Given the description of an element on the screen output the (x, y) to click on. 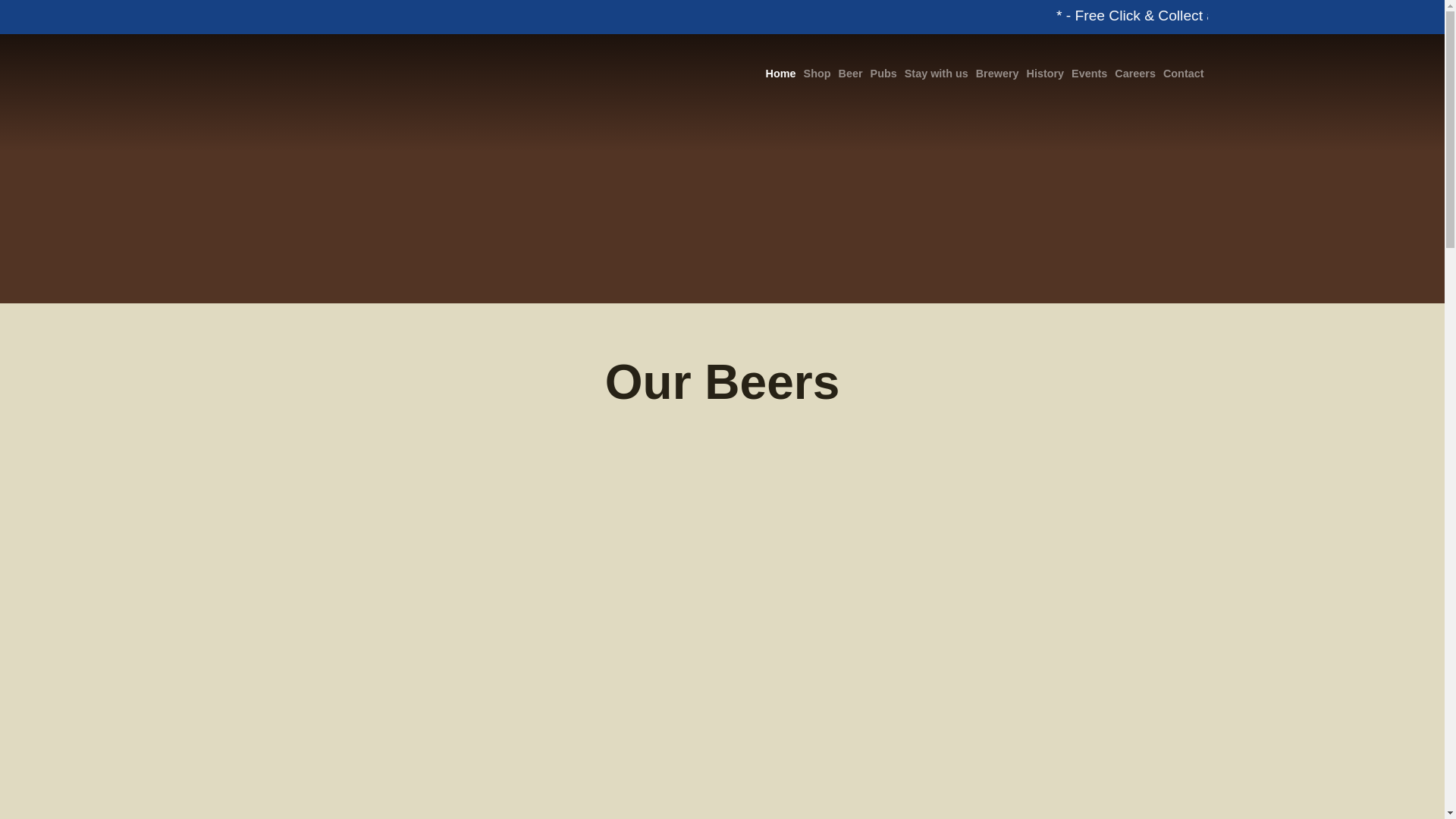
beer (850, 72)
contact (1183, 72)
brewery (997, 72)
Careers (1134, 72)
Contact (1183, 72)
history (1045, 72)
Stay with us (936, 72)
Stay with us (936, 72)
Brewery (997, 72)
events (1088, 72)
Pubs (883, 72)
Shop (816, 72)
Black Country Ales (283, 72)
History (1045, 72)
Home (780, 72)
